Given the description of an element on the screen output the (x, y) to click on. 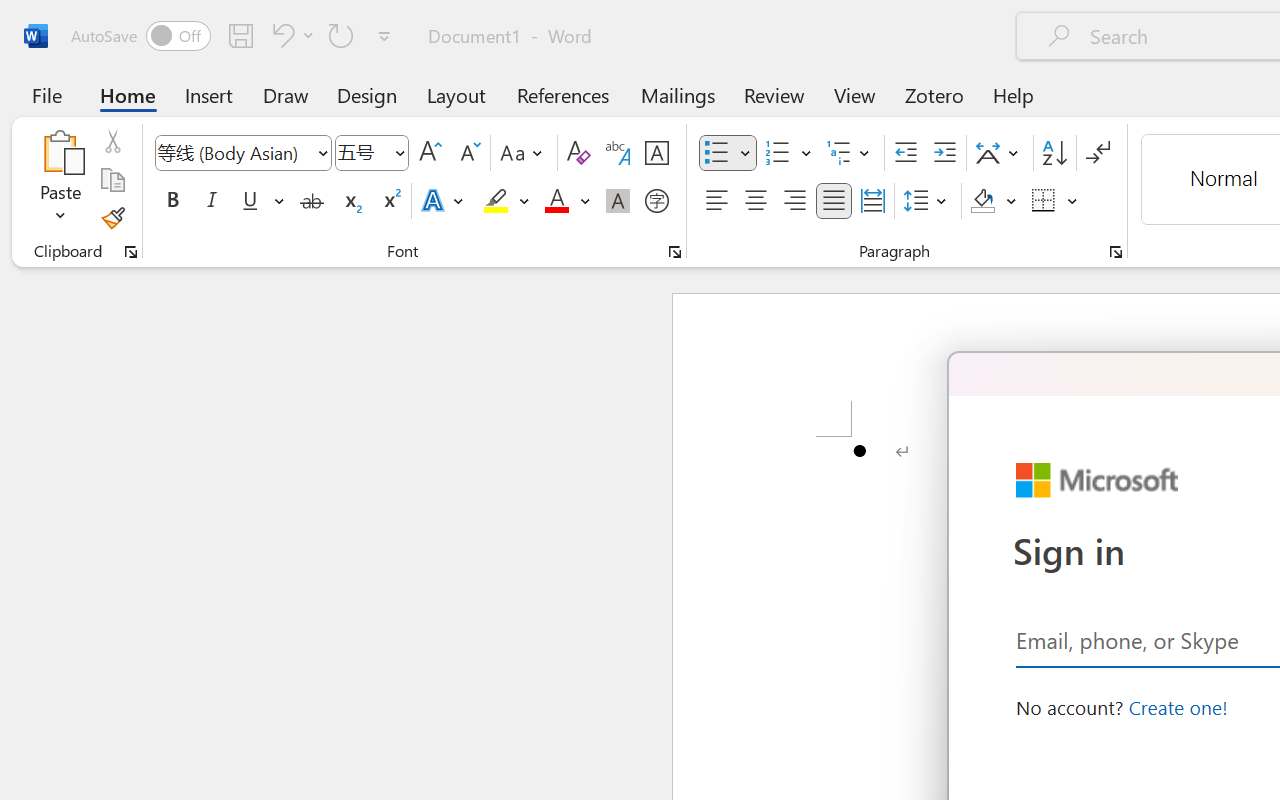
Repeat Bullet Default (341, 35)
